Given the description of an element on the screen output the (x, y) to click on. 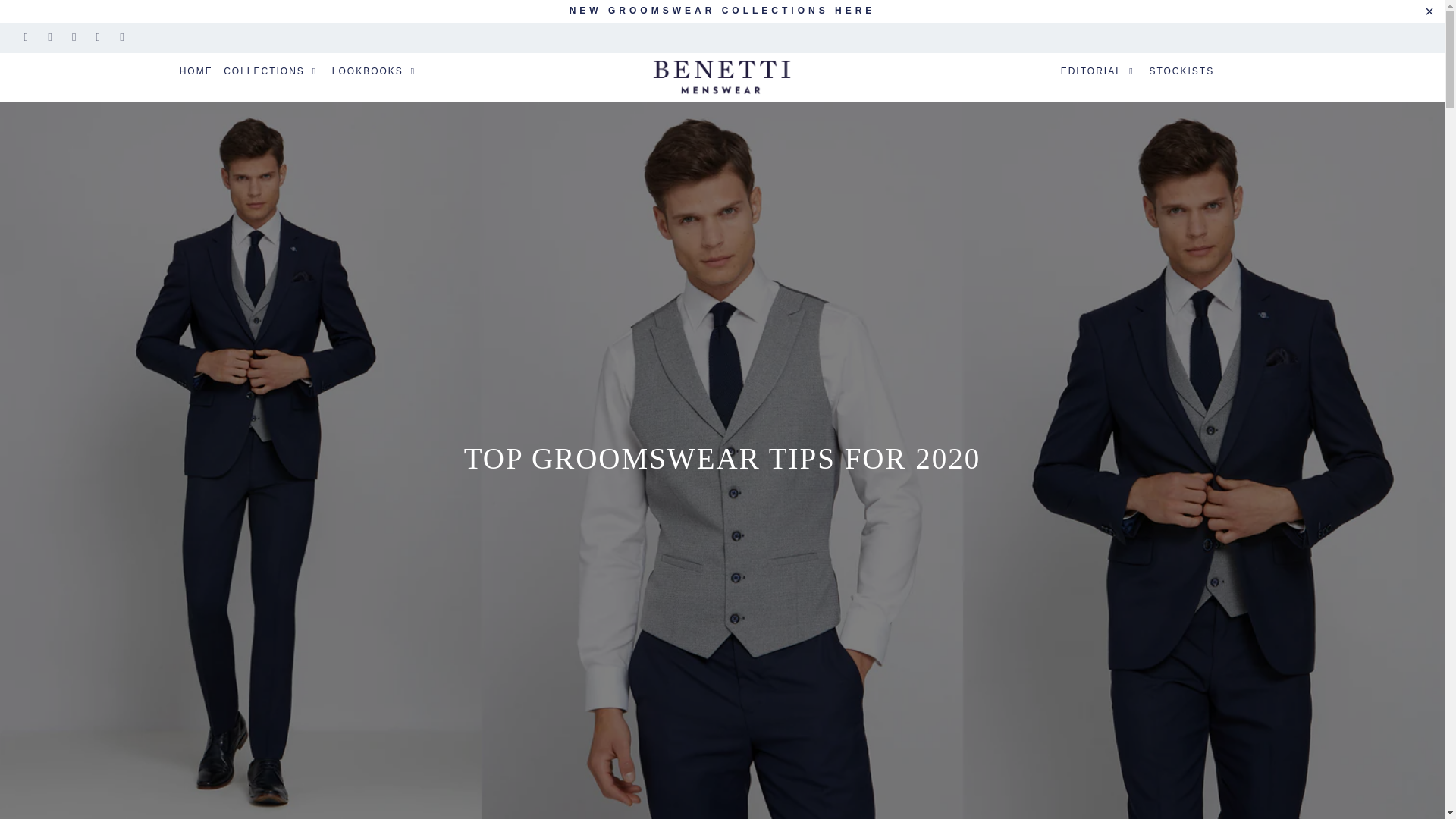
Benetti Menswear on Instagram (96, 37)
Benetti Menswear on YouTube (73, 37)
Wedding Collections (722, 9)
Email Benetti Menswear (121, 37)
Benetti Menswear on Facebook (49, 37)
Benetti Menswear (722, 76)
Benetti Menswear on Twitter (25, 37)
